Given the description of an element on the screen output the (x, y) to click on. 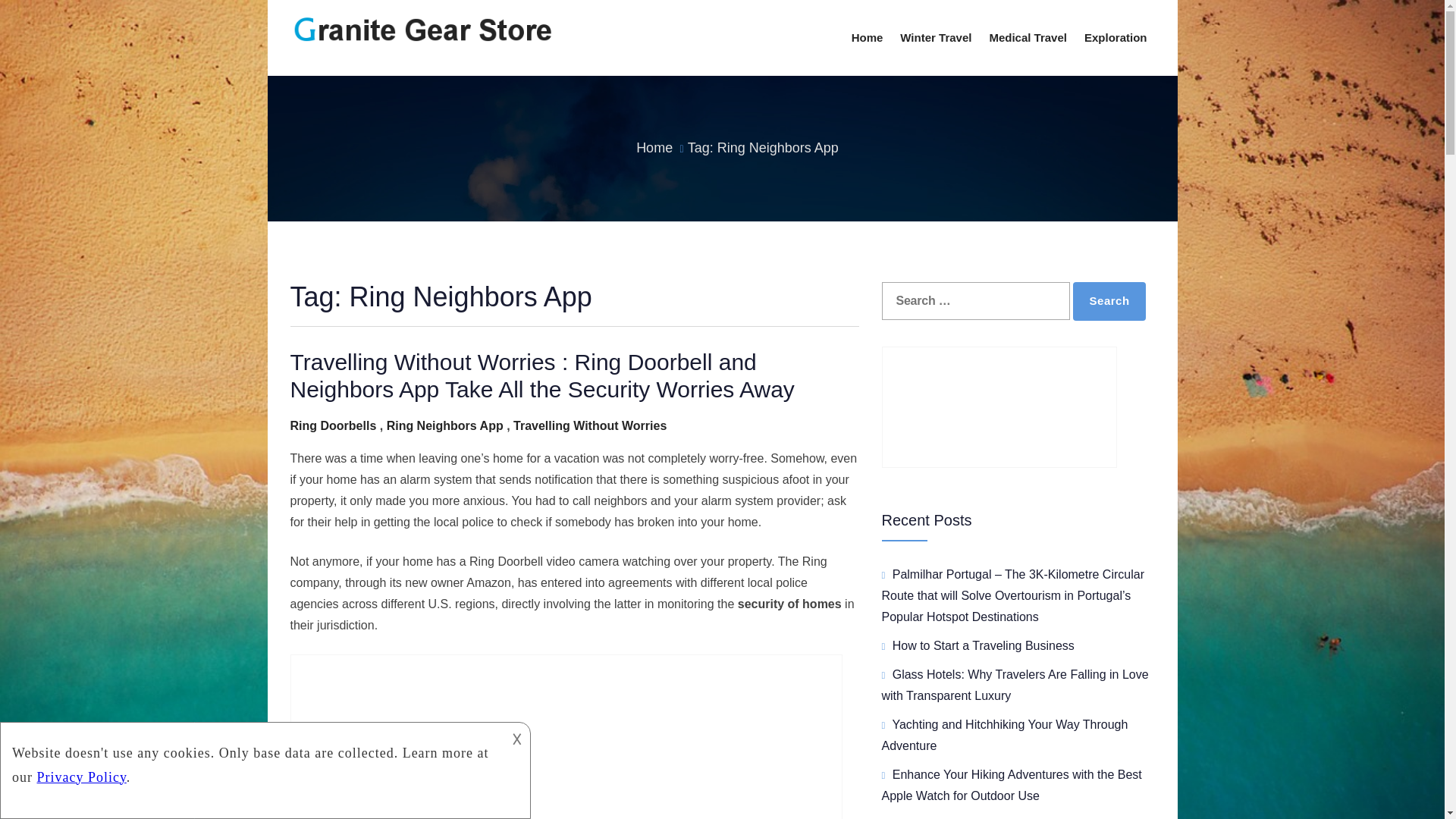
Yachting and Hitchhiking Your Way Through Adventure (1003, 735)
Ring Doorbells (332, 425)
How to Start a Traveling Business (983, 645)
description (252, 760)
Search (1109, 301)
security of homes (789, 603)
Medical Travel (1027, 37)
Home (867, 37)
Winter Travel (935, 37)
Ring Neighbors App (445, 425)
Home (654, 147)
Ring Helps Reduce Crime in Local Neighborhoods (565, 736)
Travelling Without Worries (589, 425)
